Given the description of an element on the screen output the (x, y) to click on. 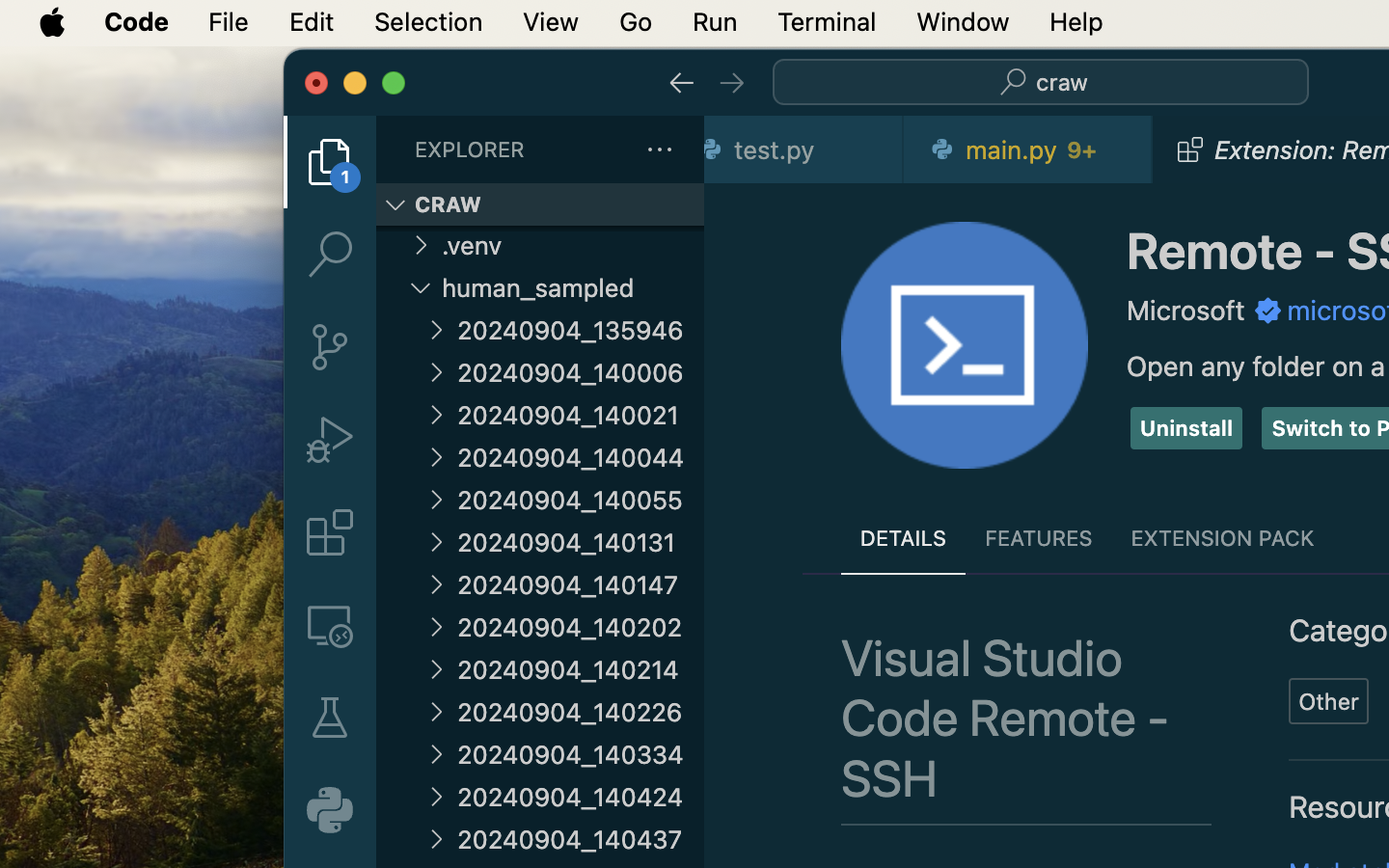
20240904_140437 Element type: AXGroup (580, 838)
Microsoft Element type: AXStaticText (1186, 310)
20240904_140334 Element type: AXGroup (580, 753)
20240904_140044 Element type: AXGroup (580, 456)
20240904_140147 Element type: AXGroup (580, 584)
